Given the description of an element on the screen output the (x, y) to click on. 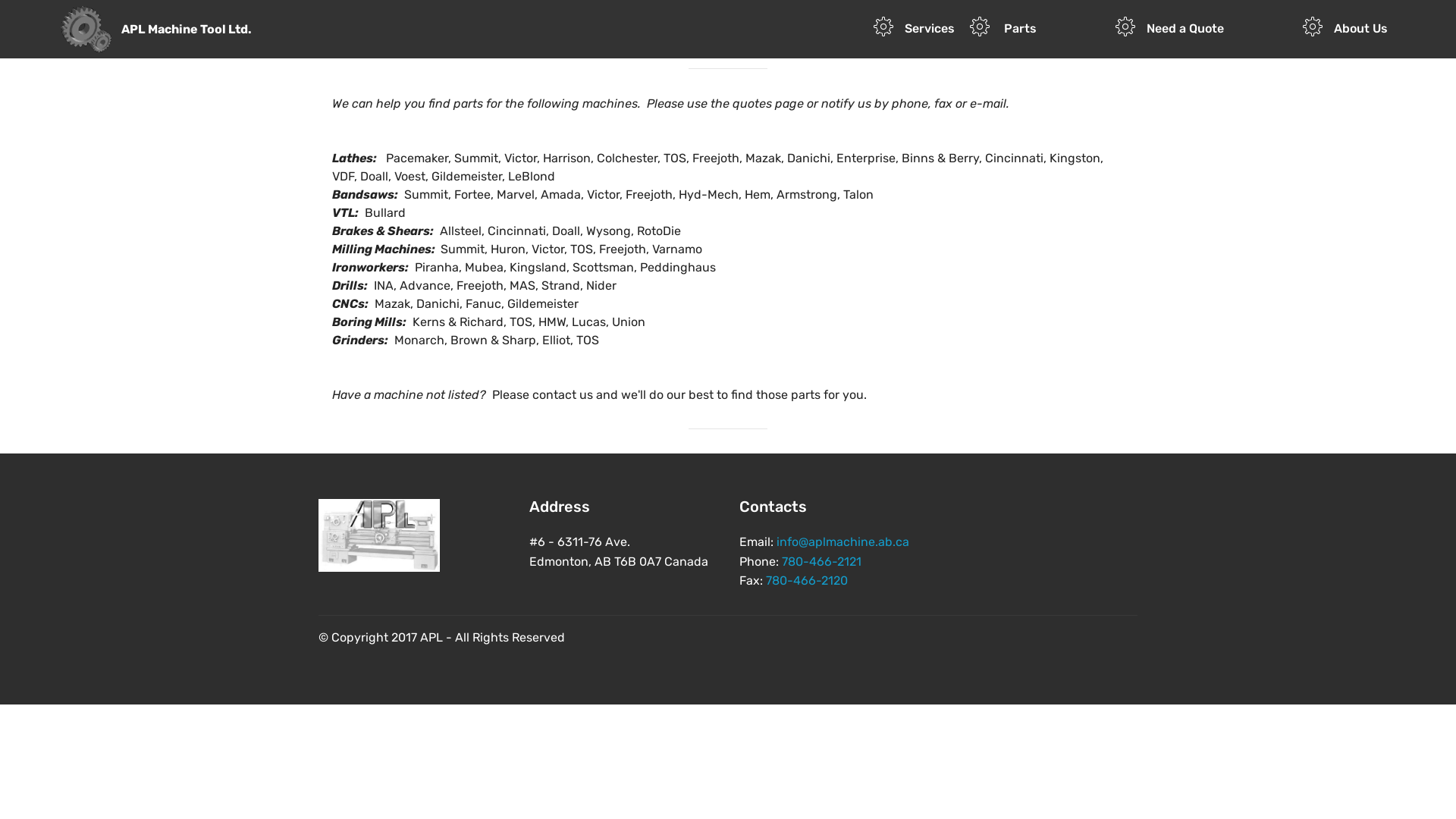
Services Element type: text (913, 28)
info@aplmachine.ab.ca Element type: text (842, 541)
780-466-2120 Element type: text (806, 580)
780-466-2121 Element type: text (821, 561)
About Us Element type: text (1344, 28)
 Parts                      Element type: text (1034, 28)
APL - Home Element type: hover (85, 29)
APL Machine Tool Ltd. Element type: text (198, 28)
 Need a Quote                      Element type: text (1200, 28)
APL - Home Element type: hover (378, 534)
